Given the description of an element on the screen output the (x, y) to click on. 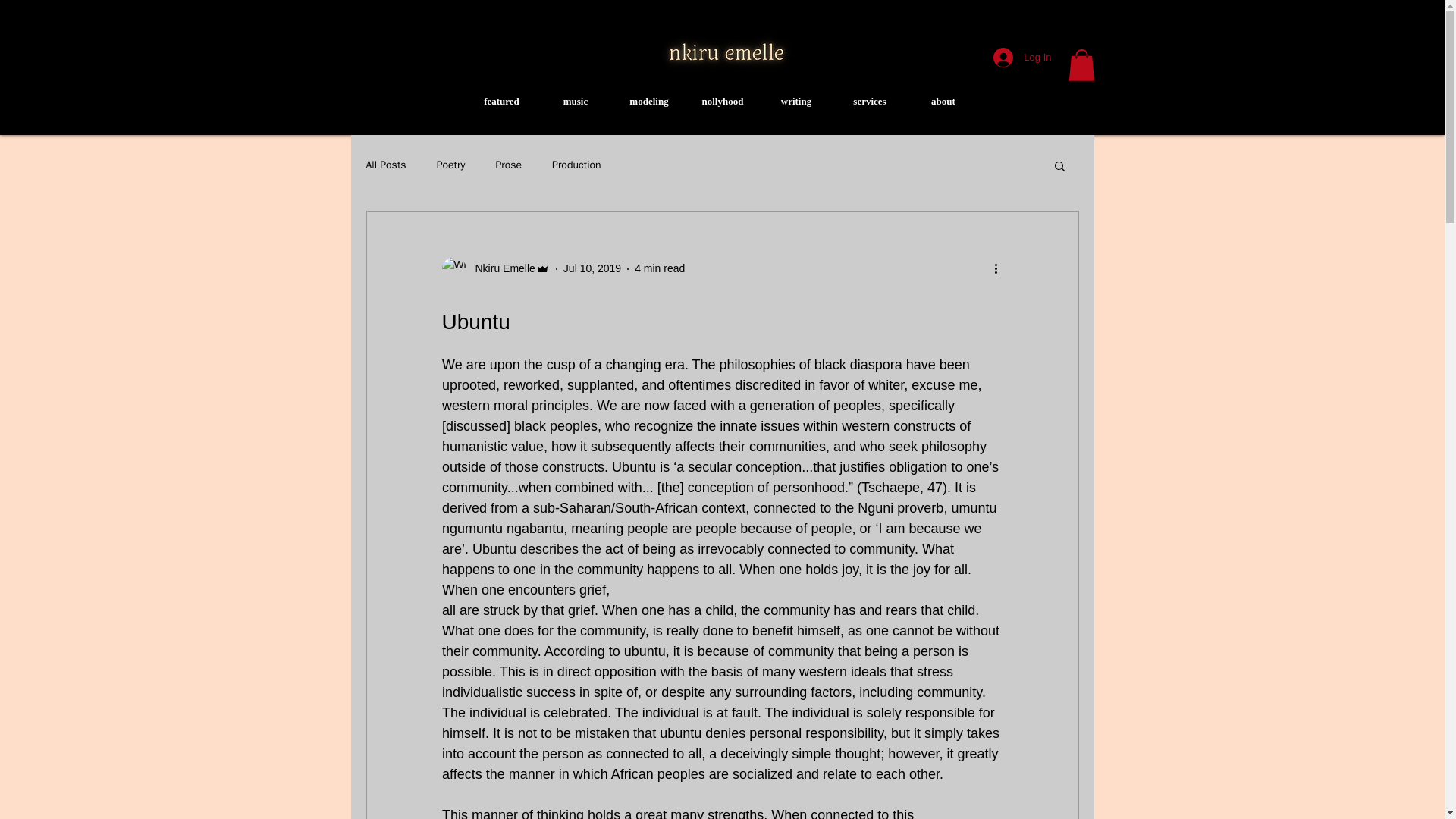
4 min read (659, 268)
Log In (1021, 57)
Nkiru Emelle (494, 269)
Jul 10, 2019 (592, 268)
Production (576, 164)
Poetry (450, 164)
nollyhood (721, 101)
featured (501, 101)
music (574, 101)
modeling (648, 101)
Nkiru Emelle (499, 268)
services (868, 101)
about (943, 101)
Prose (508, 164)
All Posts (385, 164)
